Given the description of an element on the screen output the (x, y) to click on. 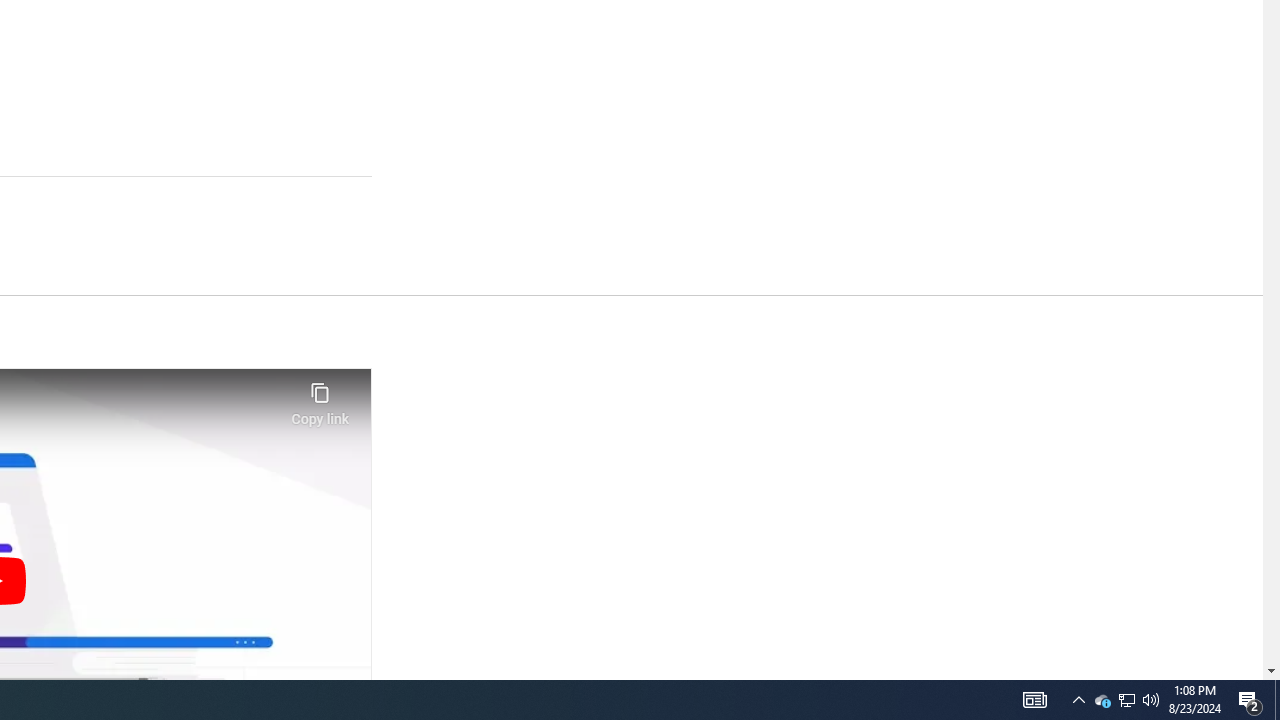
Copy link (319, 398)
